Given the description of an element on the screen output the (x, y) to click on. 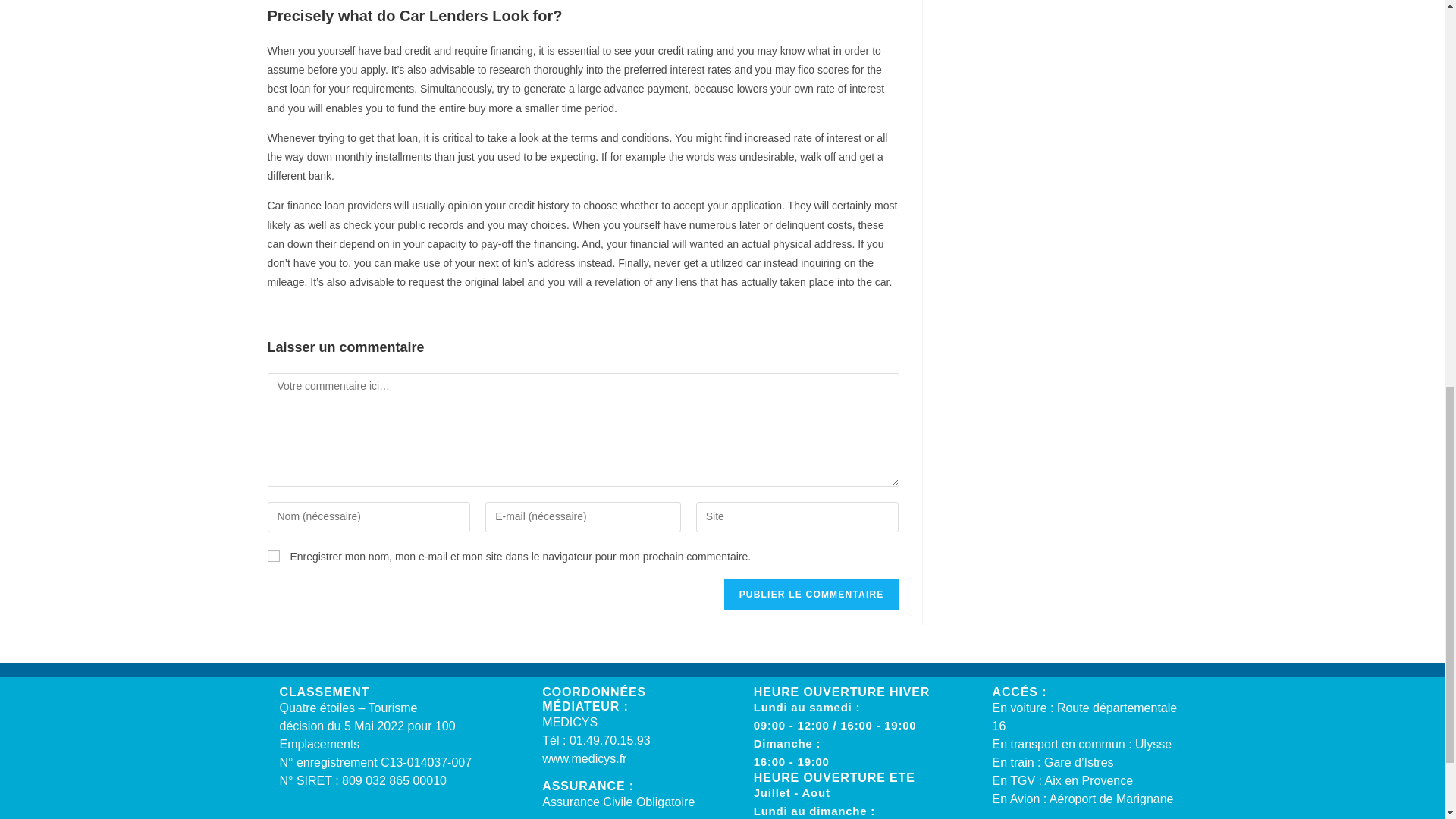
Publier le commentaire (811, 594)
Publier le commentaire (811, 594)
yes (272, 555)
